Given the description of an element on the screen output the (x, y) to click on. 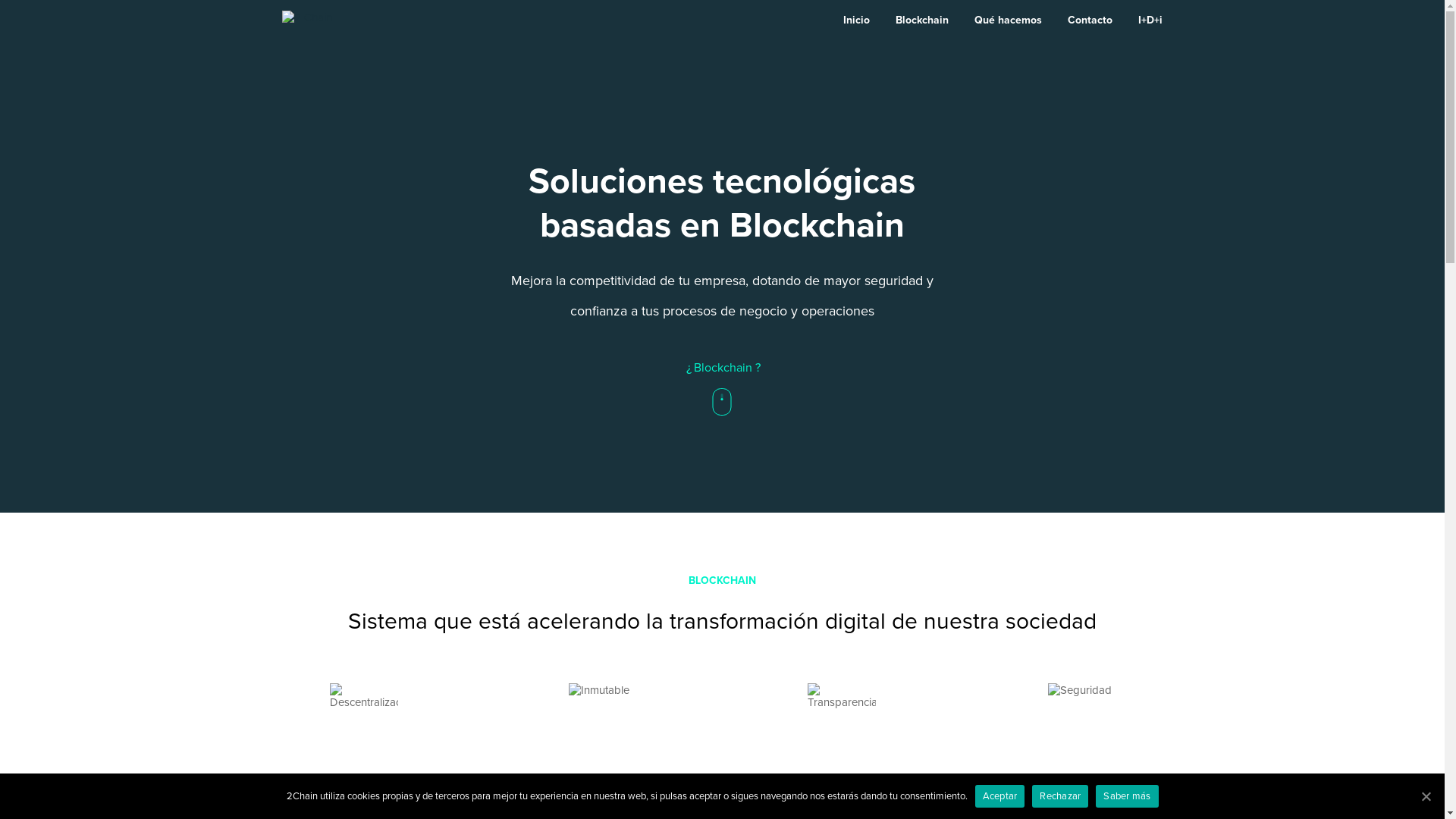
Inmutable Element type: hover (602, 717)
Contacto Element type: text (1089, 20)
Aceptar Element type: text (1000, 795)
Seguridad Element type: hover (1080, 718)
I+D+i Element type: text (1150, 20)
Home Element type: text (322, 19)
Transparencia Element type: hover (841, 717)
Inicio Element type: text (856, 20)
Blockchain Element type: text (921, 20)
Rechazar Element type: text (1060, 795)
